Given the description of an element on the screen output the (x, y) to click on. 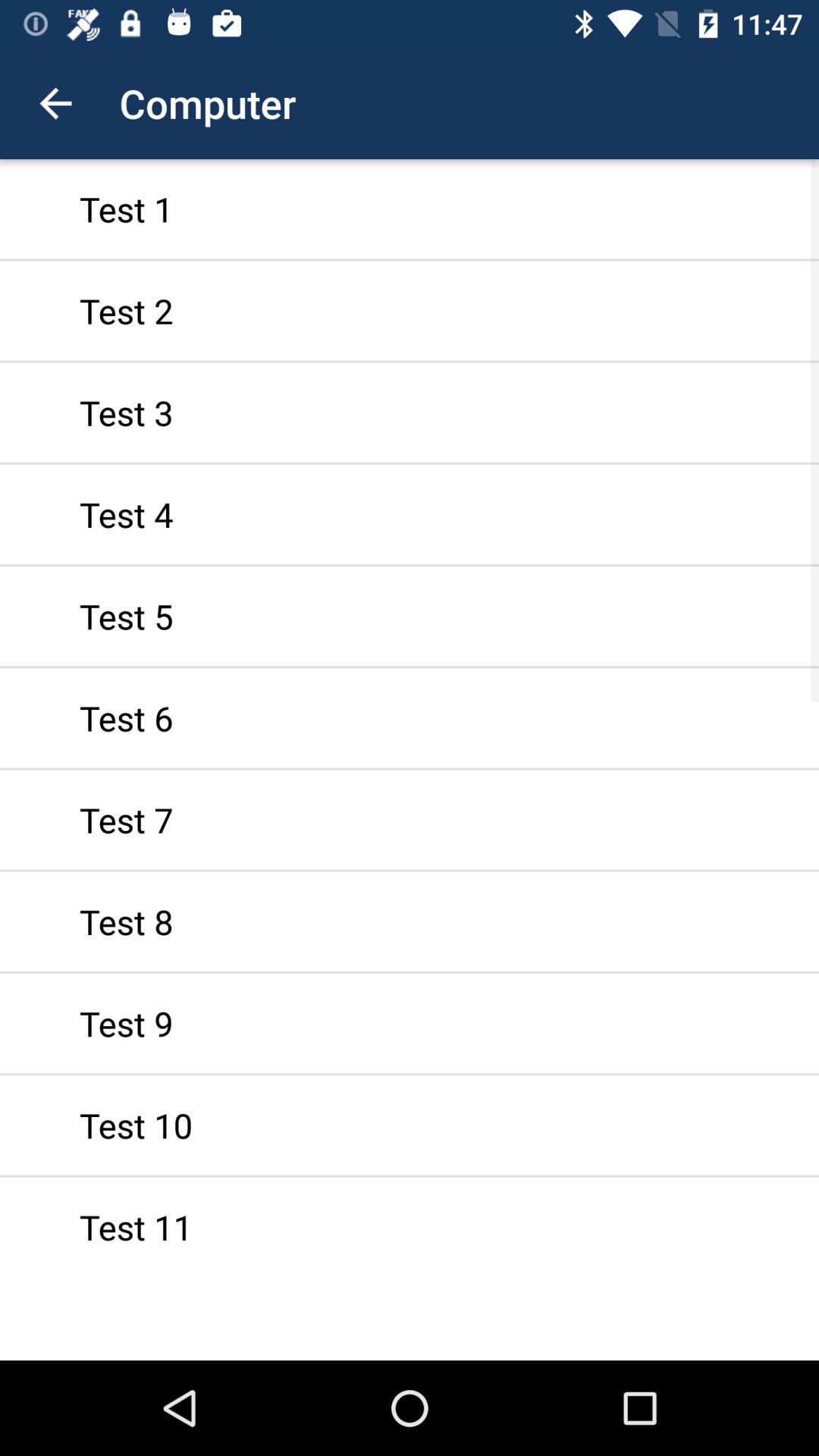
scroll to test 2 item (409, 310)
